Given the description of an element on the screen output the (x, y) to click on. 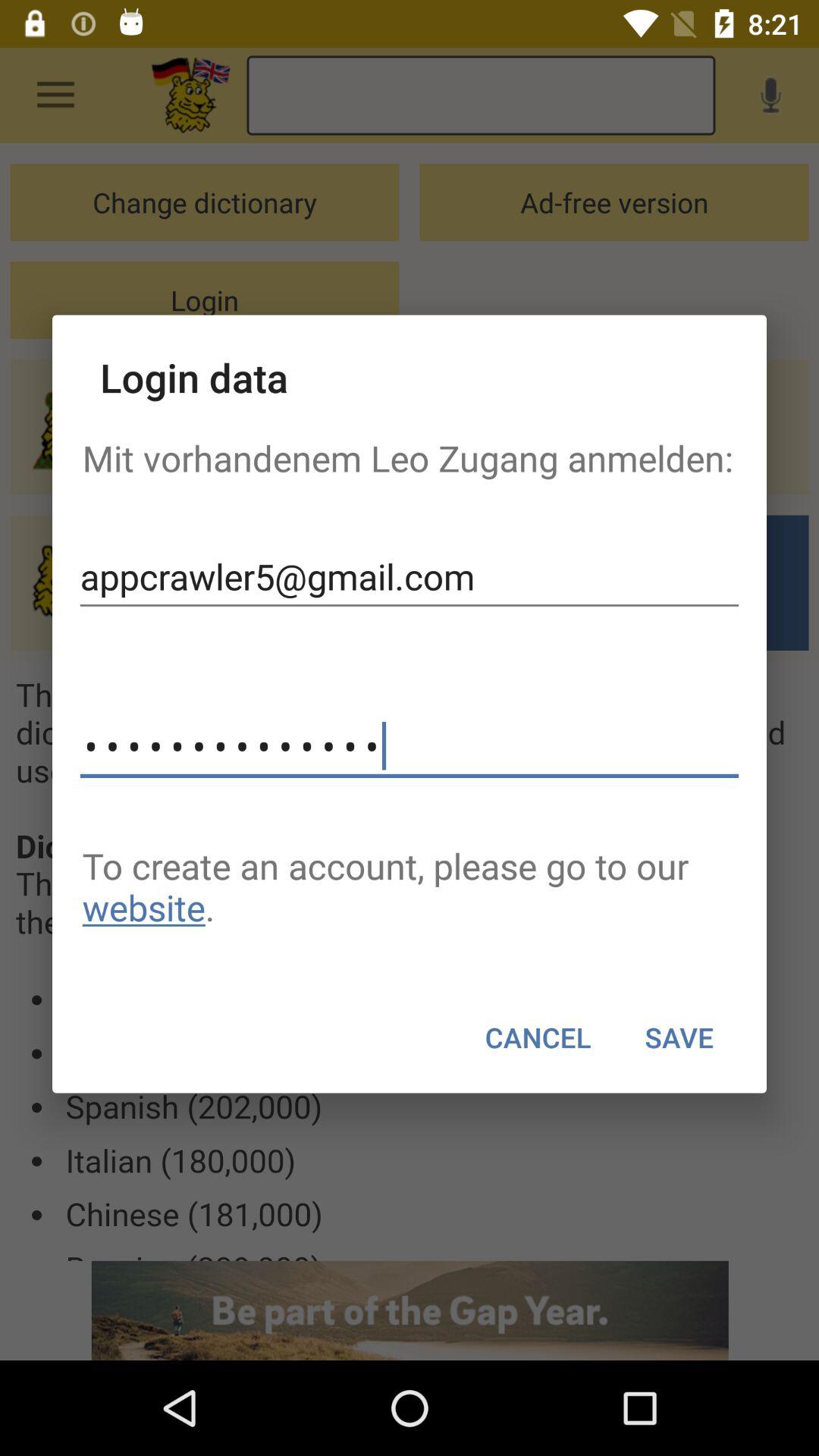
click item below to create an icon (678, 1037)
